Given the description of an element on the screen output the (x, y) to click on. 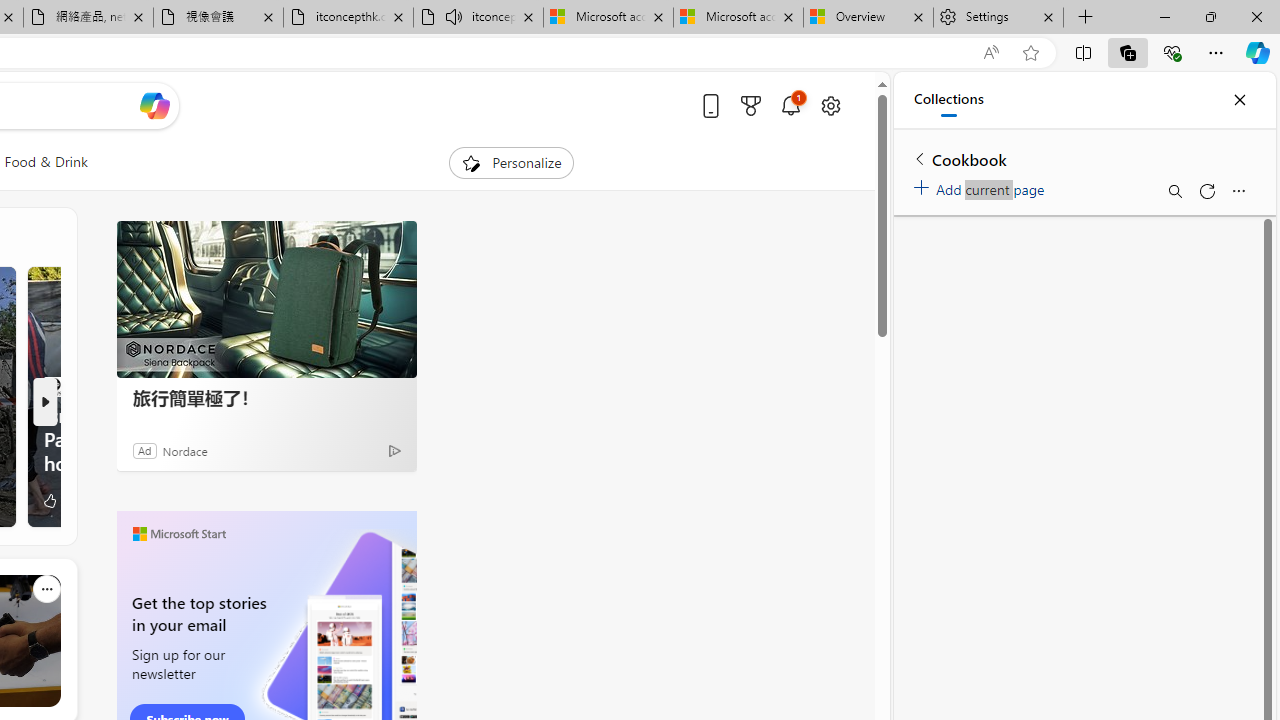
Back to list of collections (920, 158)
itconcepthk.com/projector_solutions.mp4 - Audio playing (477, 17)
Add current page (982, 186)
